Given the description of an element on the screen output the (x, y) to click on. 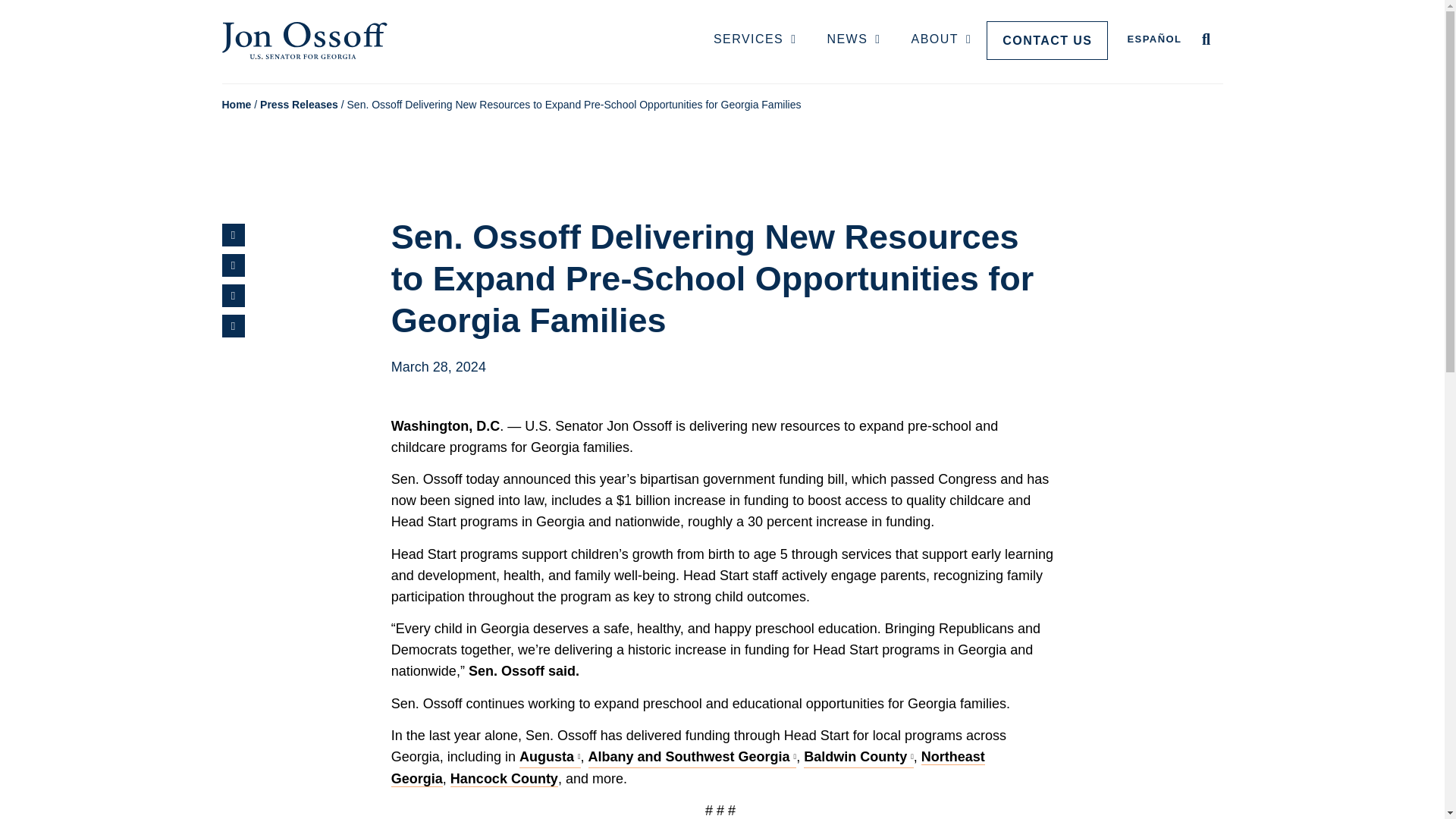
SERVICES (755, 40)
NEWS (852, 40)
CONTACT US (1047, 40)
ABOUT (941, 40)
